Given the description of an element on the screen output the (x, y) to click on. 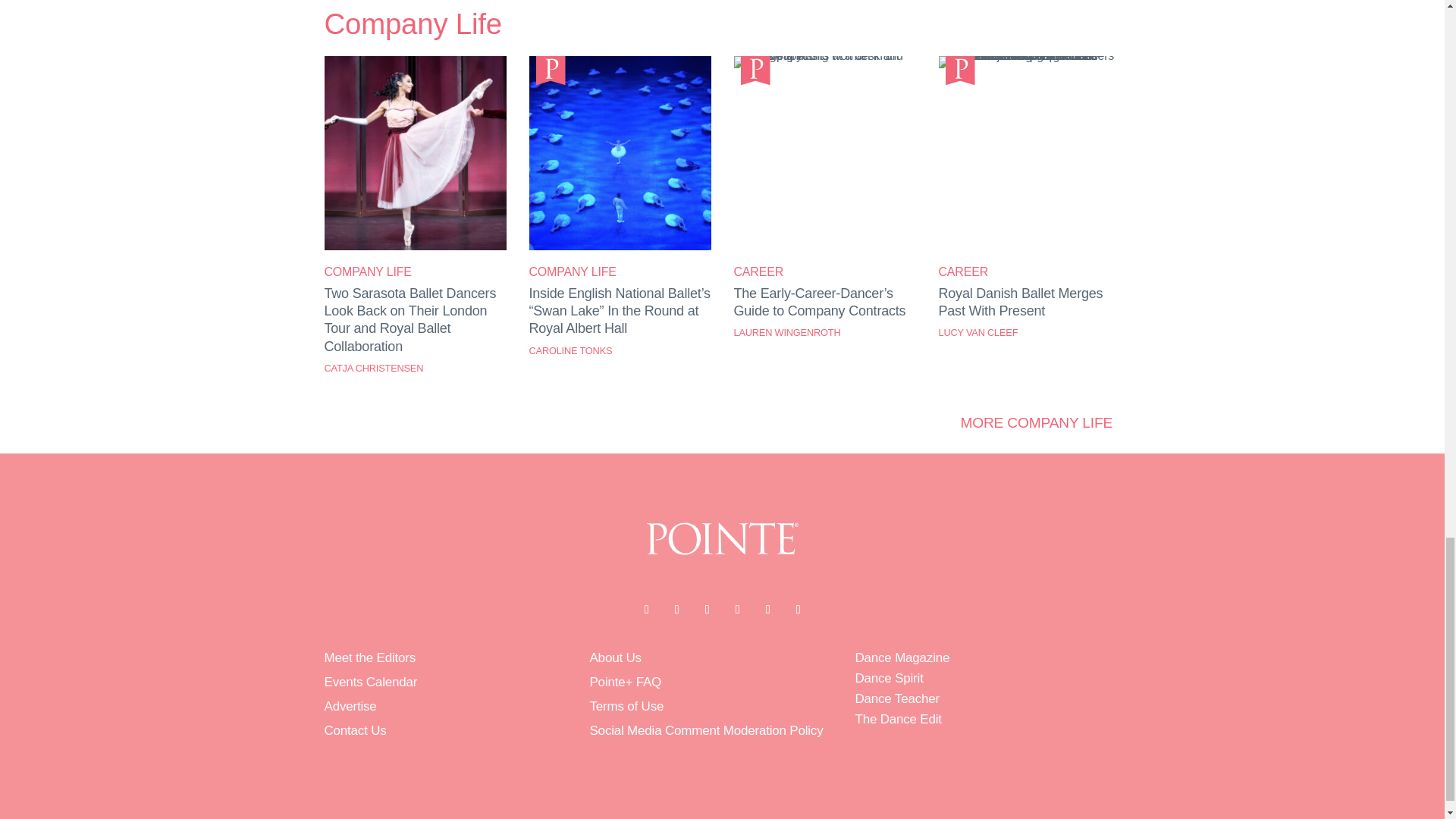
Follow on Youtube (737, 609)
Follow on Facebook (645, 609)
Royal Danish Ballet Merges Past With Present (1030, 55)
Follow on Pinterest (766, 609)
Follow on Twitter (675, 609)
Follow on Instagram (706, 609)
